Given the description of an element on the screen output the (x, y) to click on. 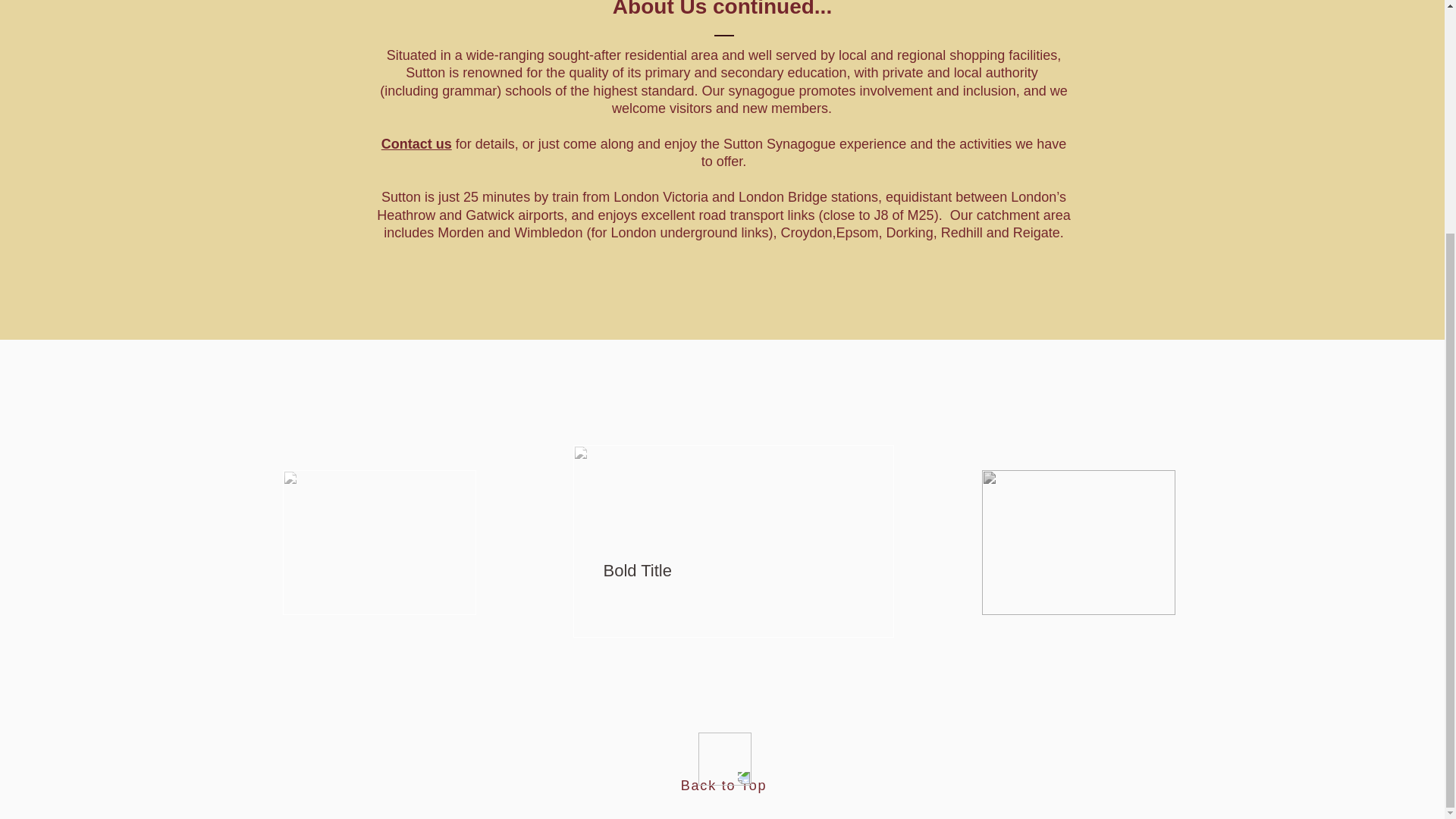
menorah1.jpg (1077, 542)
Contact us (416, 143)
ark.jpg (379, 542)
Back to Top (724, 785)
